Given the description of an element on the screen output the (x, y) to click on. 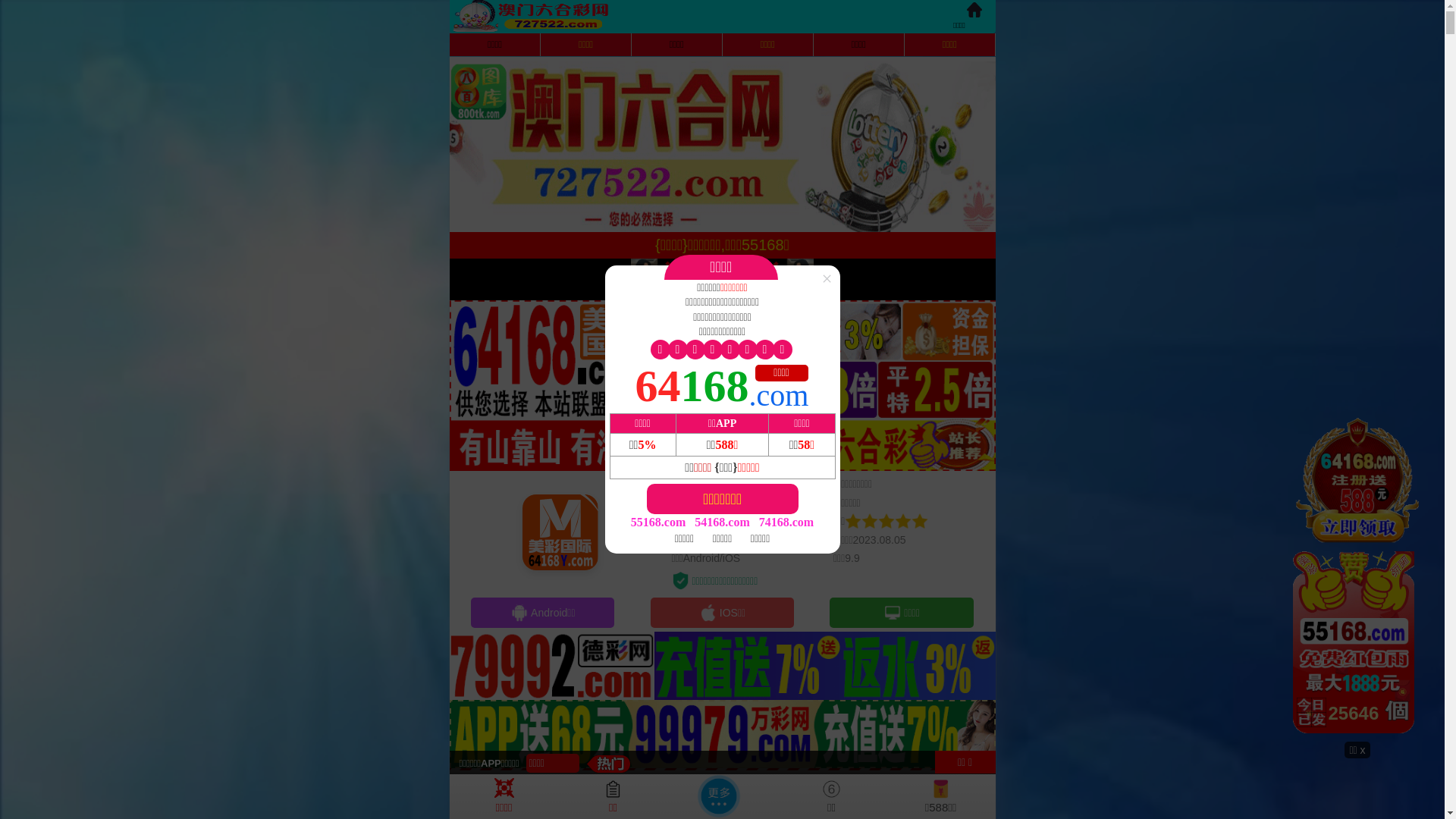
26092 Element type: text (1356, 578)
